Given the description of an element on the screen output the (x, y) to click on. 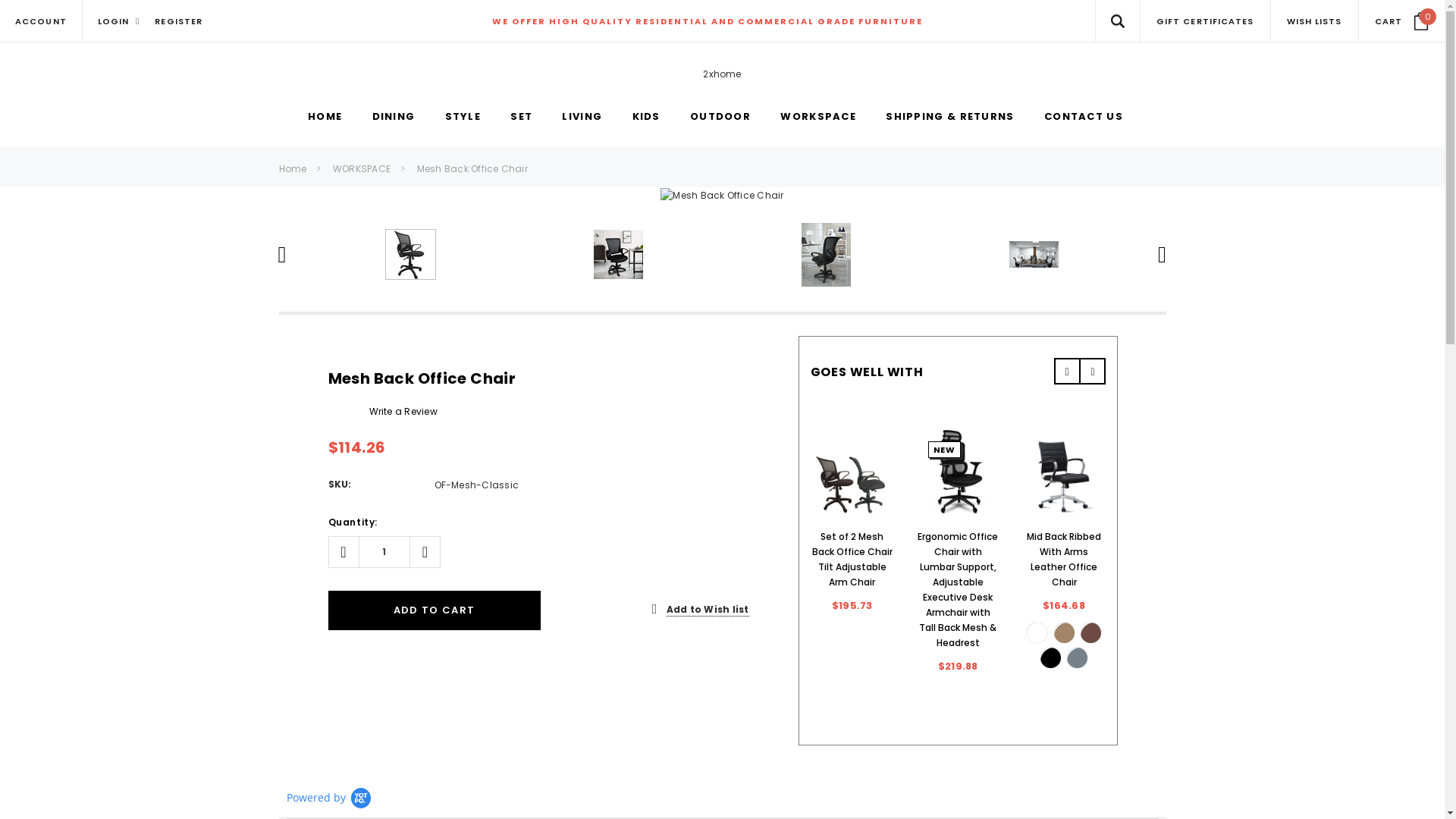
Mesh Back Office Chair Element type: hover (410, 254)
2xhome Element type: text (721, 73)
Mesh Back Office Chair Element type: hover (721, 195)
Black Element type: hover (1053, 660)
Home Element type: text (293, 168)
CART
0 Element type: text (1401, 21)
WORKSPACE Element type: text (361, 168)
GIFT CERTIFICATES Element type: text (1205, 20)
Increase Quantity: Element type: text (424, 551)
Mid Back Ribbed With Arms Leather Office Chair Element type: hover (1063, 471)
DINING Element type: text (392, 117)
Mesh Back Office Chair Element type: text (472, 168)
ACCOUNT Element type: text (40, 20)
Mesh Back Office Chair Element type: hover (1033, 254)
OUTDOOR Element type: text (720, 117)
White Element type: hover (1040, 635)
WISH LISTS Element type: text (1314, 20)
SHIPPING & RETURNS Element type: text (949, 117)
Write a Review Element type: text (402, 410)
LIVING Element type: text (581, 117)
Add to Wish list Element type: text (700, 610)
HOME Element type: text (324, 117)
SET Element type: text (521, 117)
Set of 2 Mesh Back Office Chair Tilt Adjustable Arm Chair Element type: text (852, 559)
CONTACT US Element type: text (1083, 117)
Set of 2 Mesh Back Office Chair Tilt Adjustable Arm Chair Element type: hover (852, 471)
Mesh Back Office Chair Element type: hover (825, 254)
STYLE Element type: text (463, 117)
KIDS Element type: text (646, 117)
LOGIN Element type: text (118, 21)
REGISTER Element type: text (178, 21)
Brown Element type: hover (1093, 635)
Gray Element type: hover (1080, 660)
Decrease Quantity: Element type: text (342, 551)
Mesh Back Office Chair Element type: hover (618, 254)
WORKSPACE Element type: text (818, 117)
Mid Back Ribbed With Arms Leather Office Chair Element type: text (1063, 559)
ADD TO CART Element type: text (433, 610)
Tan Element type: hover (1067, 635)
